Given the description of an element on the screen output the (x, y) to click on. 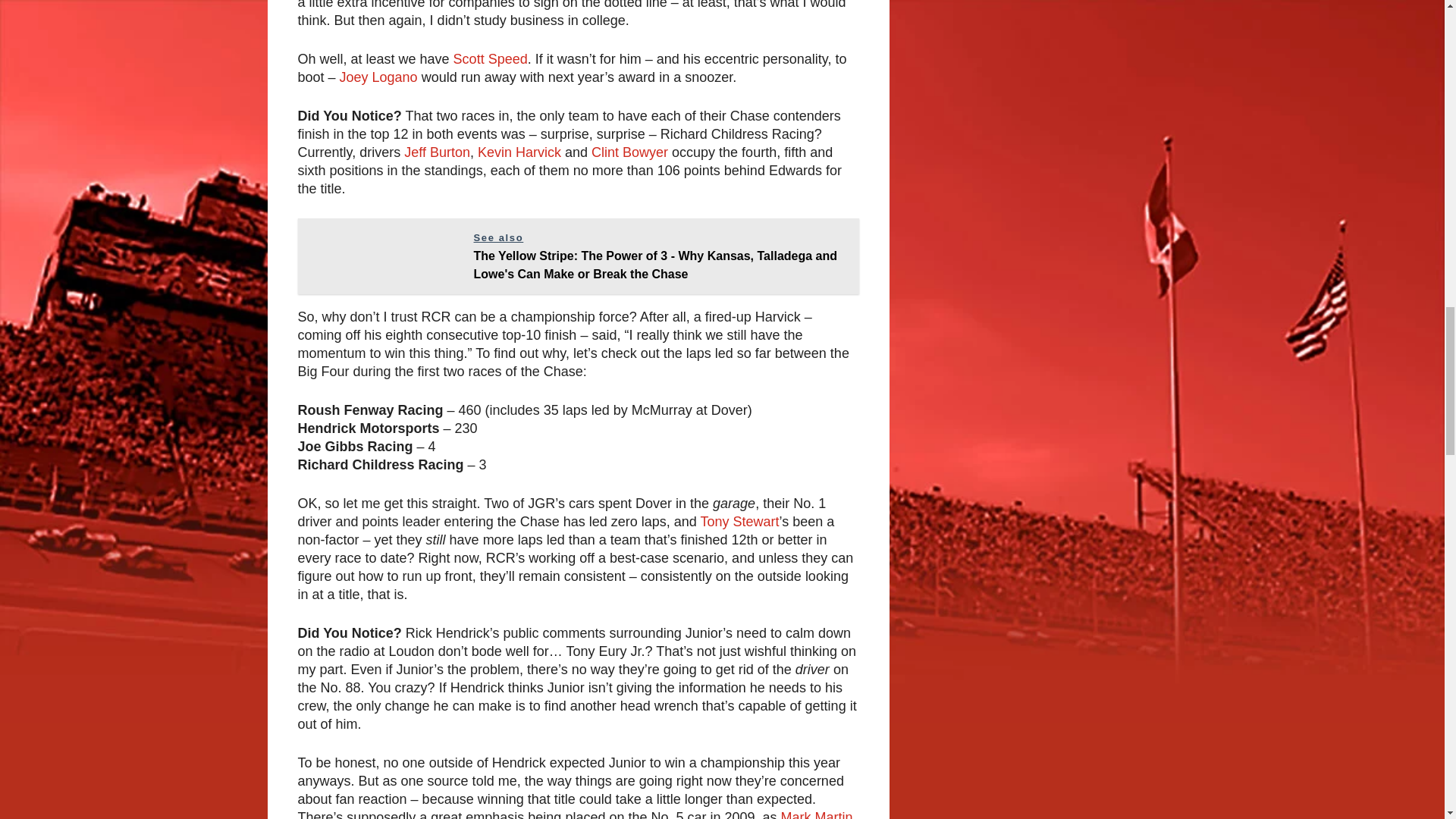
Scott Speed (489, 58)
Mark Martin (816, 814)
Clint Bowyer (629, 151)
Kevin Harvick (518, 151)
Tony Stewart (739, 521)
Jeff Burton (437, 151)
Joey Logano (378, 77)
